Given the description of an element on the screen output the (x, y) to click on. 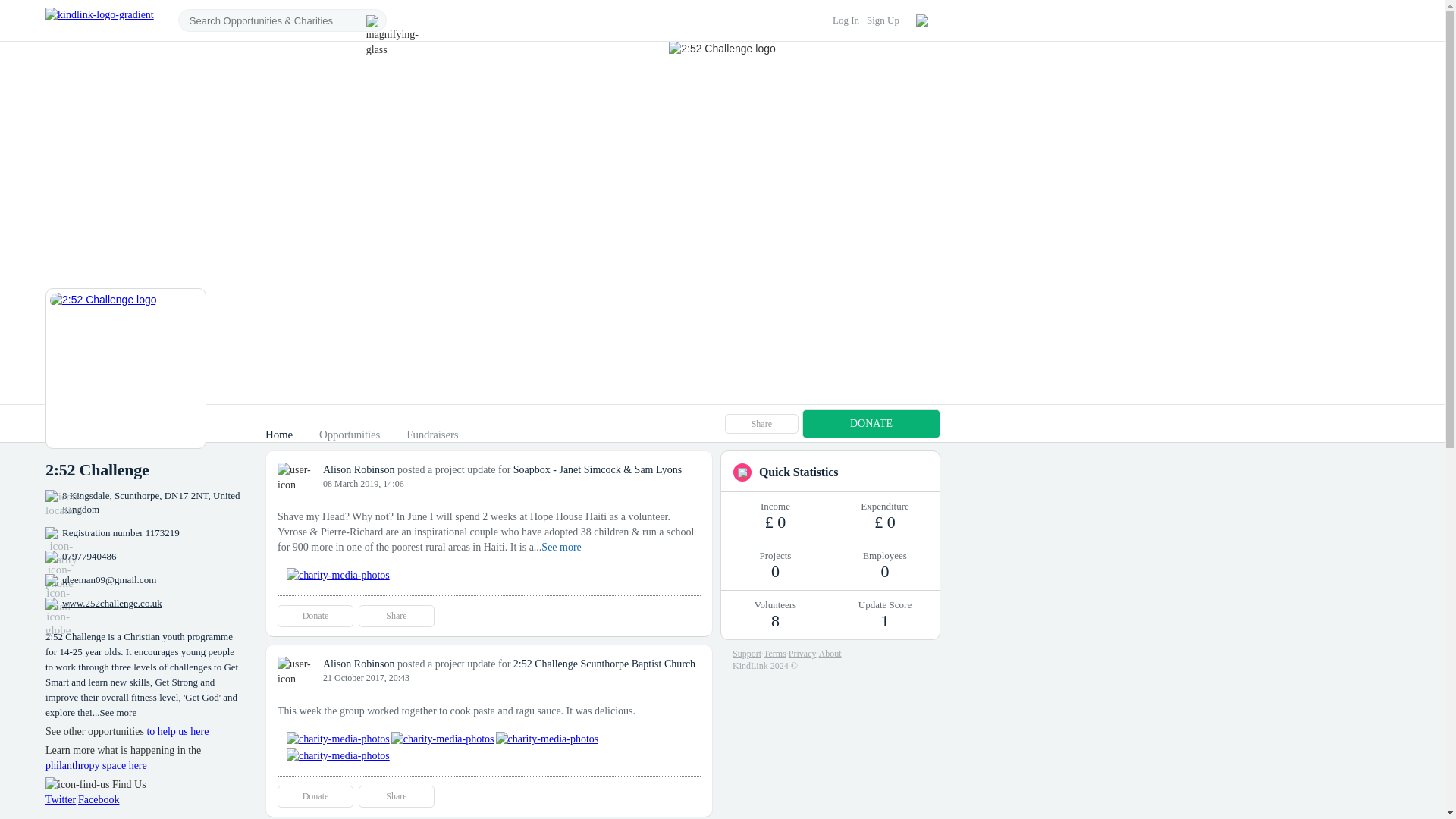
Twitter (60, 799)
Sign Up (882, 19)
Privacy (802, 653)
go to Kindlink main page (99, 20)
See more (560, 546)
About (829, 653)
Donate (315, 616)
to help us here (177, 731)
Opportunities (349, 434)
Facebook (98, 799)
